Given the description of an element on the screen output the (x, y) to click on. 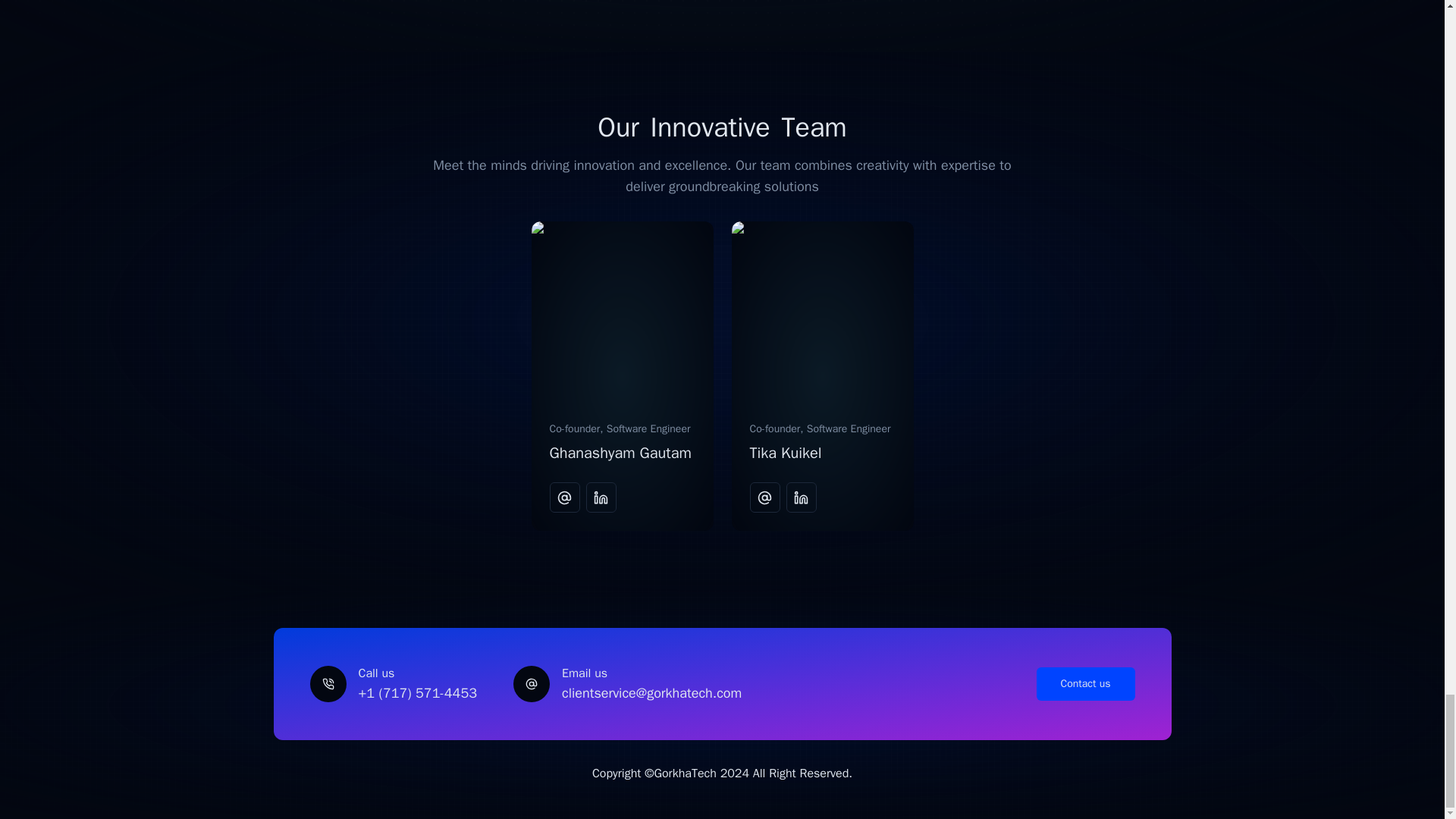
Ghanashyam Gautam (619, 452)
Tika Kuikel (785, 452)
